Given the description of an element on the screen output the (x, y) to click on. 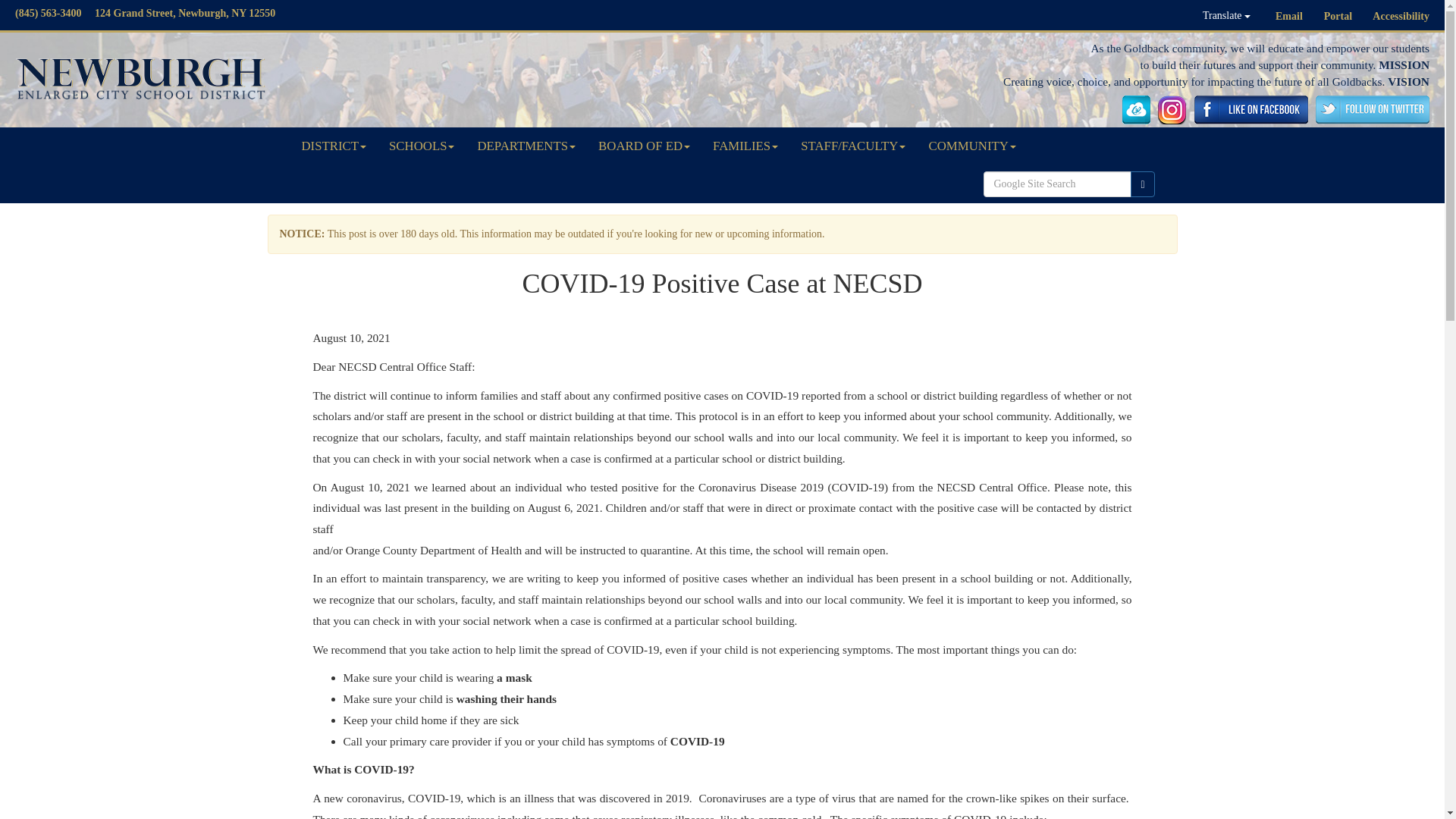
Portal (1337, 16)
DISTRICT (333, 146)
Accessibility (1401, 16)
Translate (1226, 15)
SCHOOLS (421, 146)
Email (1289, 16)
